Given the description of an element on the screen output the (x, y) to click on. 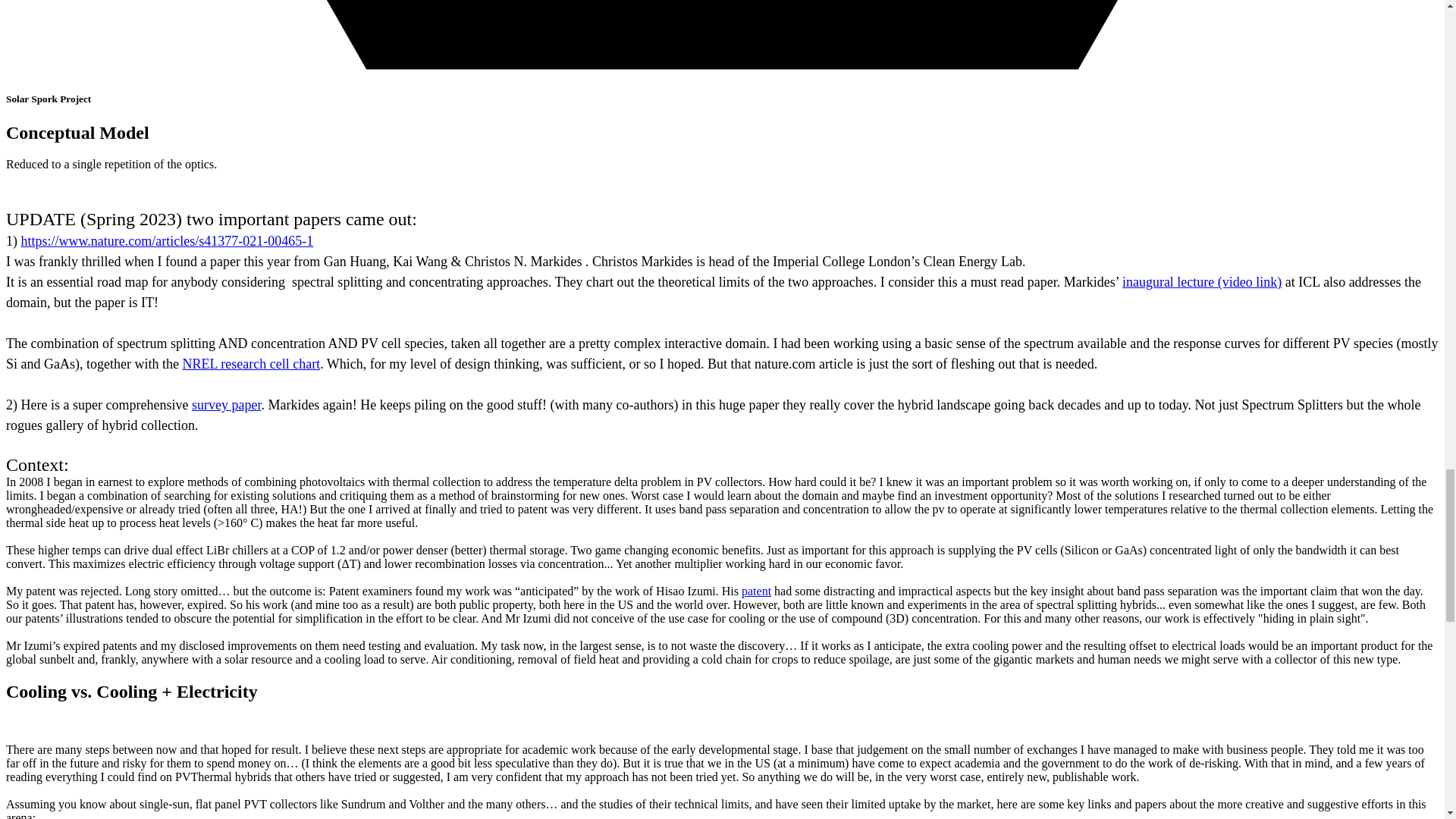
patent (756, 590)
NREL research cell chart (251, 363)
survey paper (226, 404)
